Given the description of an element on the screen output the (x, y) to click on. 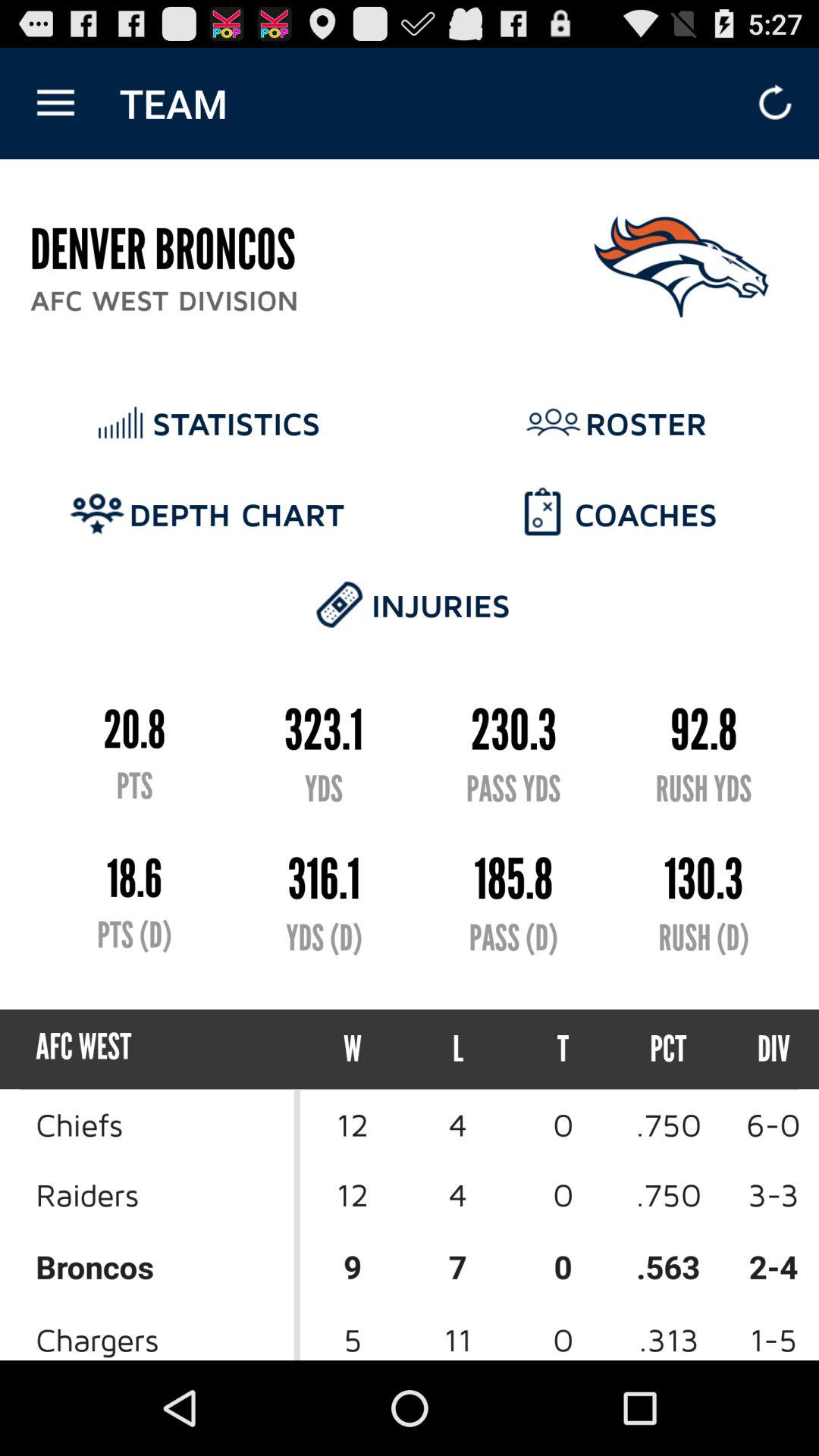
choose the icon above the .750 (760, 1049)
